Given the description of an element on the screen output the (x, y) to click on. 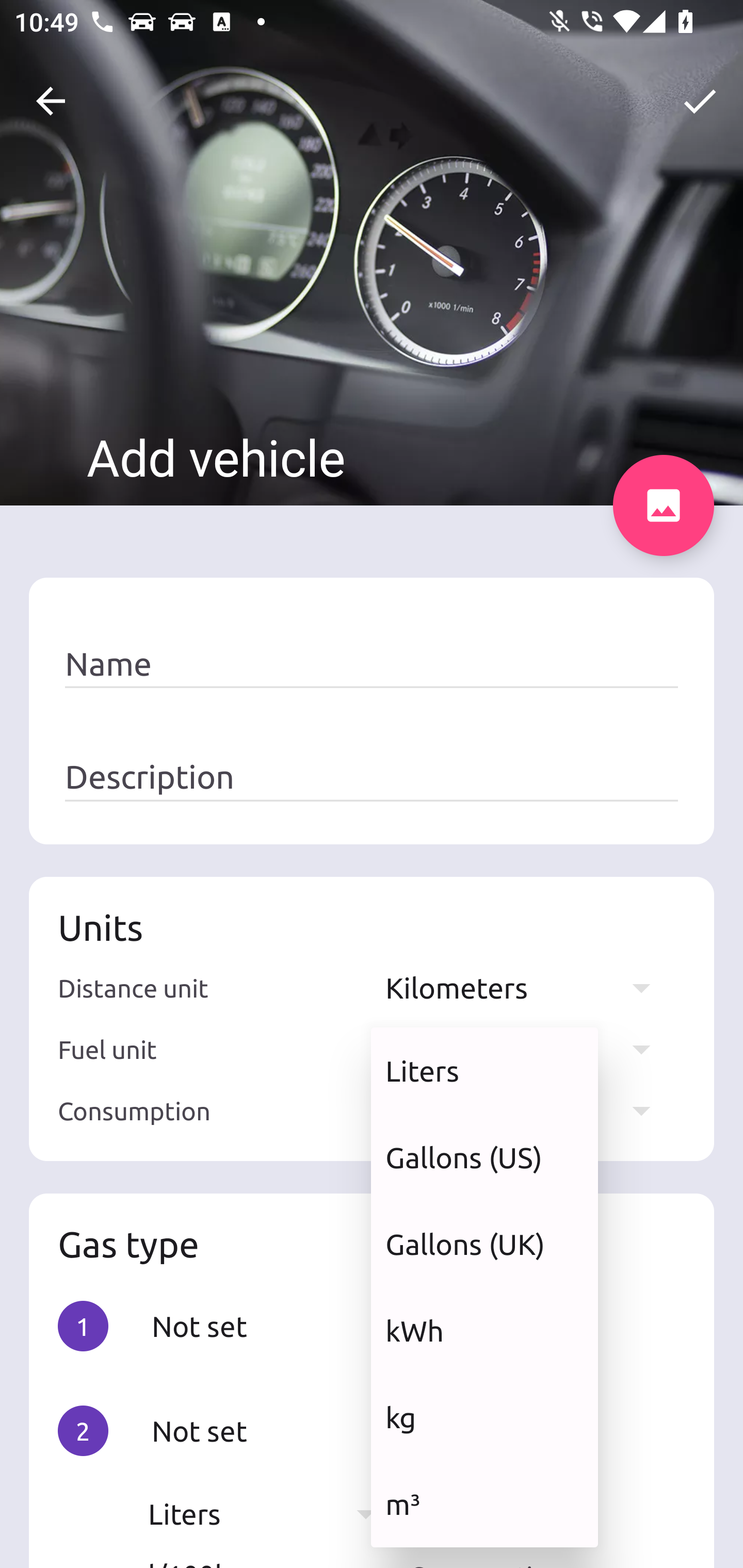
Liters (484, 1070)
Gallons (US) (484, 1157)
Gallons (UK) (484, 1244)
kWh (484, 1330)
kg (484, 1417)
m³ (484, 1504)
